Given the description of an element on the screen output the (x, y) to click on. 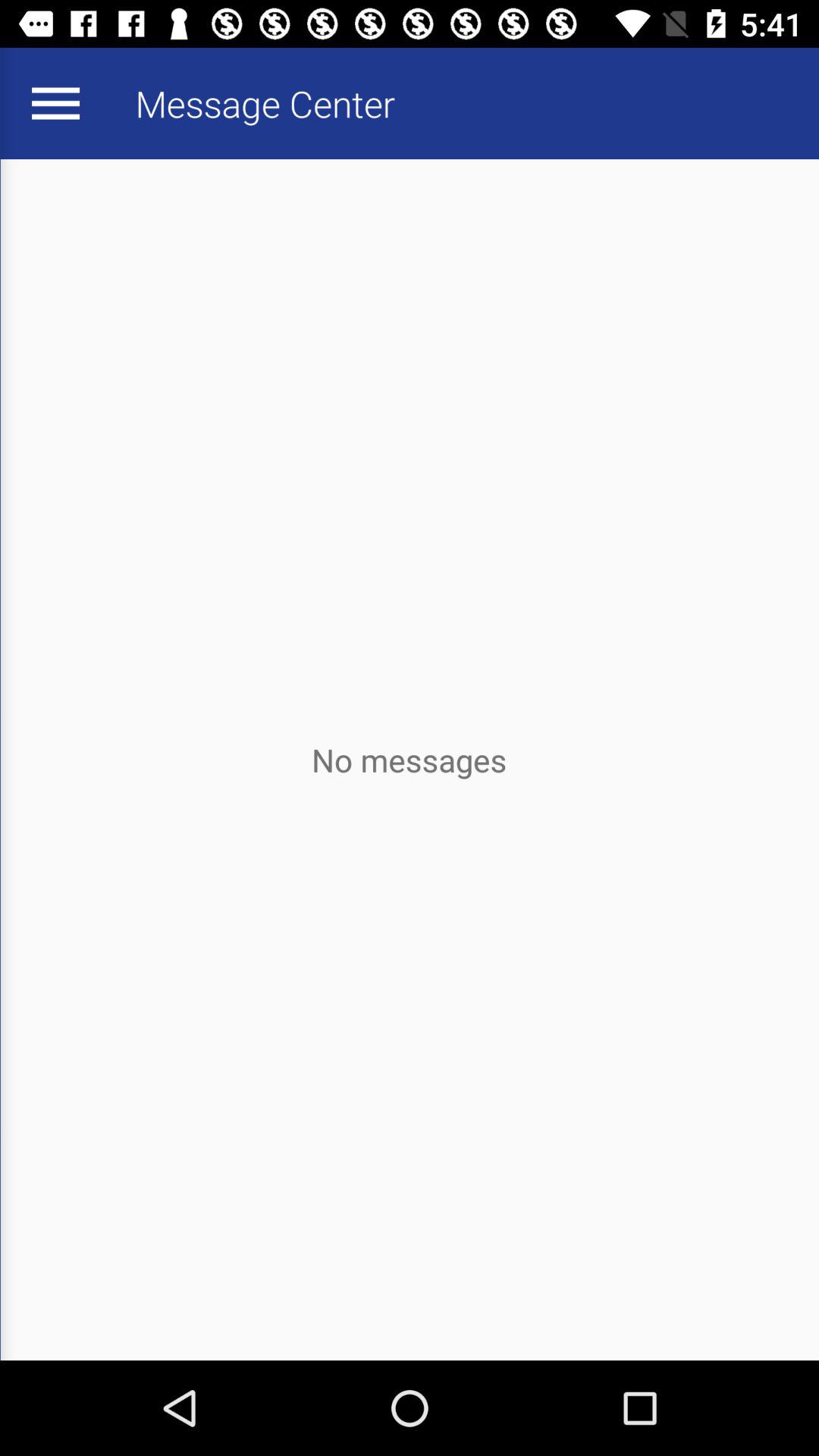
open menu (55, 103)
